Given the description of an element on the screen output the (x, y) to click on. 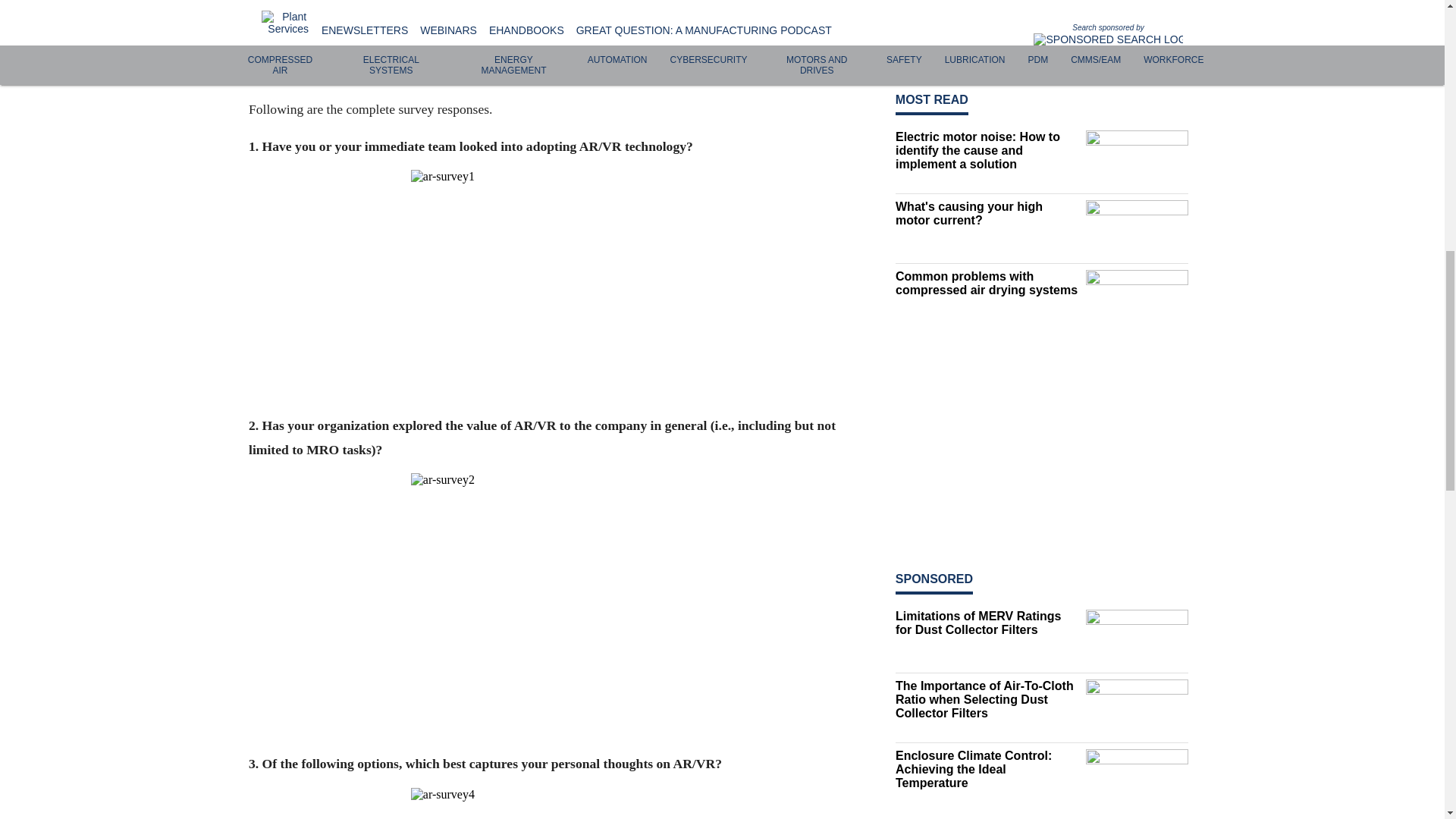
ar-survey2 (560, 612)
ar-survey4 (560, 803)
ar-survey1 (560, 291)
